Given the description of an element on the screen output the (x, y) to click on. 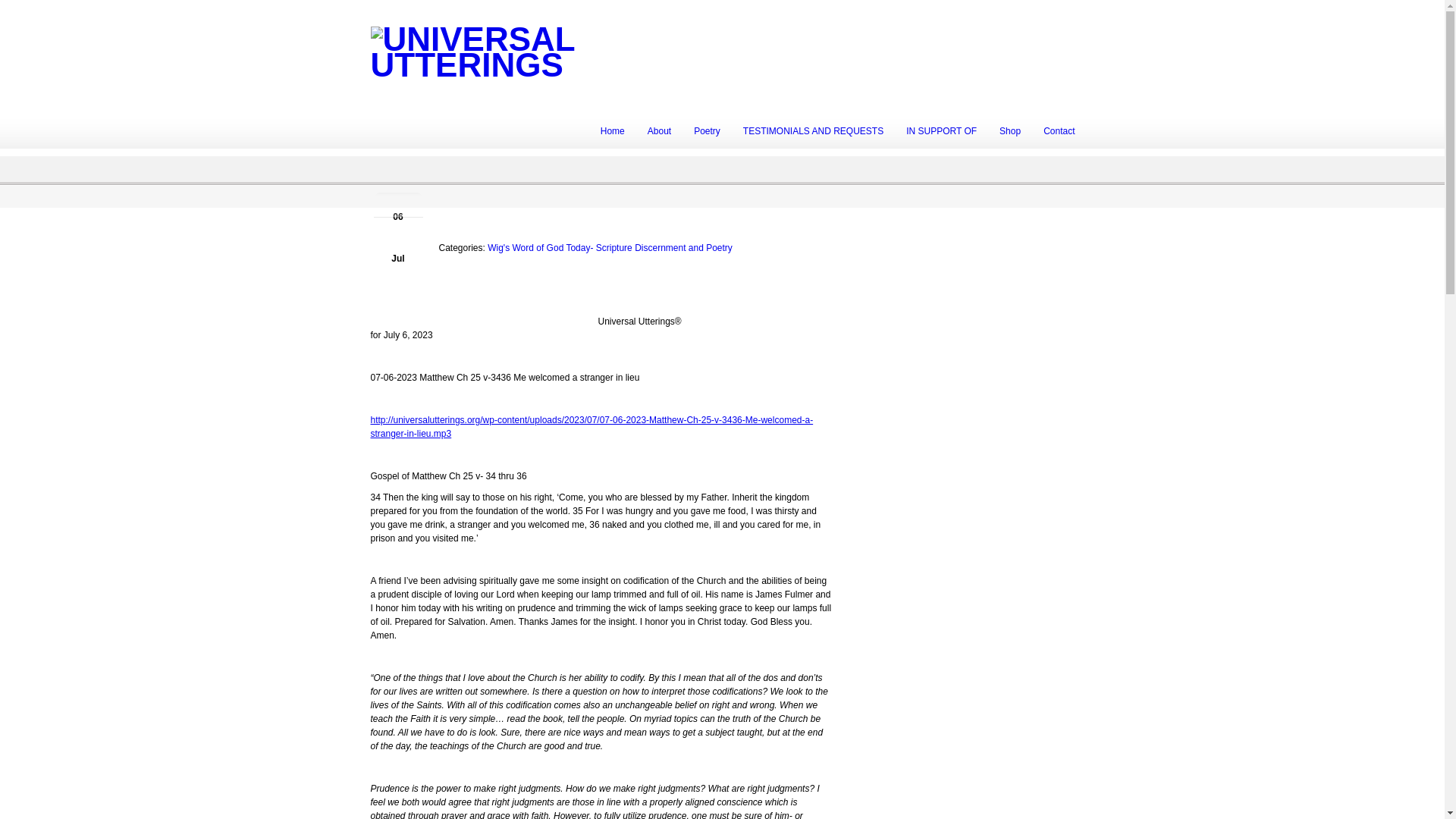
About (659, 130)
Contact (1059, 130)
Wig's Word of God Today- Scripture Discernment and Poetry (609, 247)
Home (612, 130)
TESTIMONIALS AND REQUESTS (813, 130)
Poetry (707, 130)
Shop (1010, 130)
IN SUPPORT OF (941, 130)
